Given the description of an element on the screen output the (x, y) to click on. 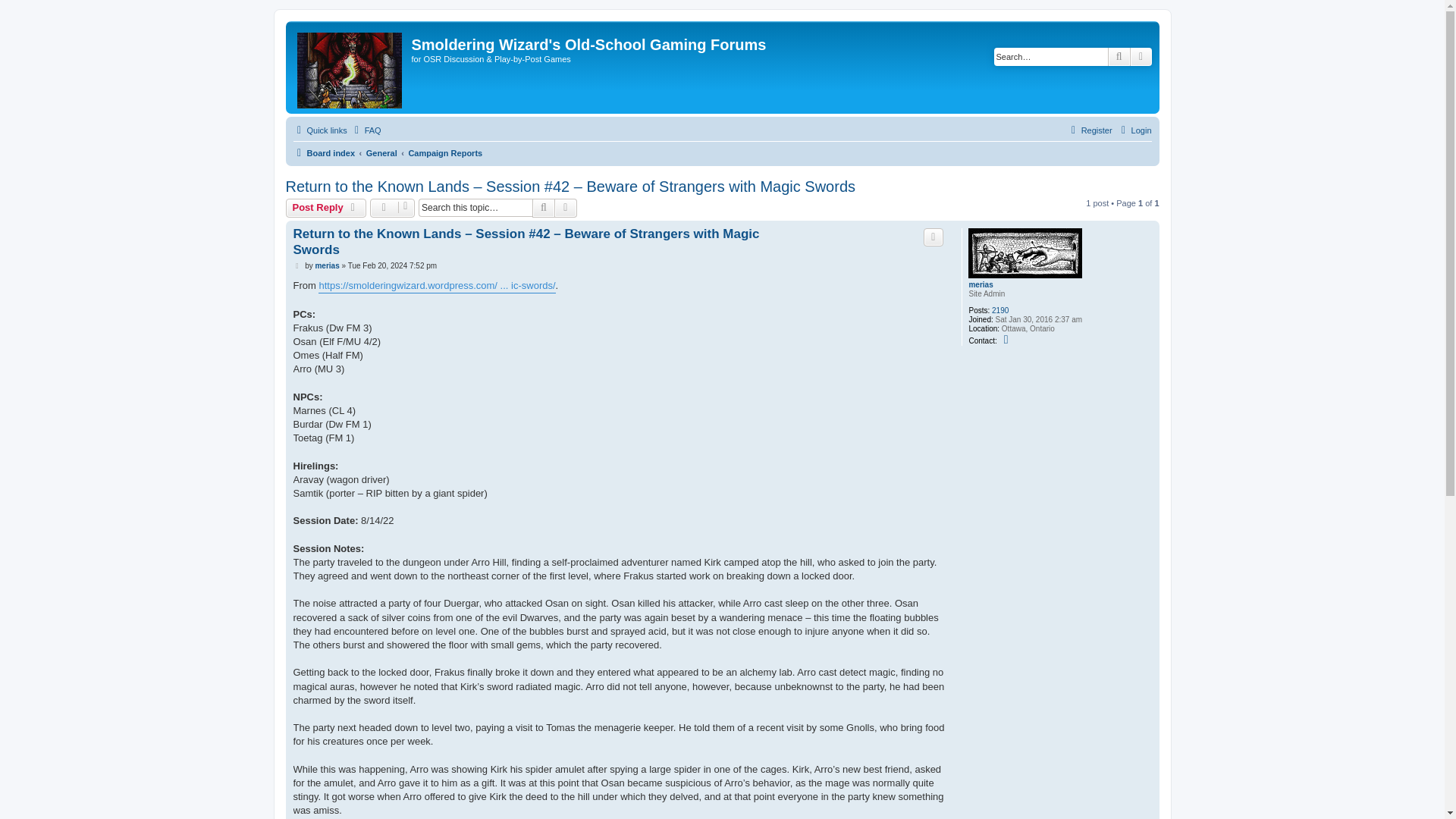
Topic tools (391, 208)
Board index (350, 67)
merias (326, 266)
Campaign Reports (444, 153)
Login (1134, 130)
Advanced search (1141, 56)
General (381, 153)
Login (1134, 130)
Board index (323, 153)
Post (297, 266)
Search (543, 208)
2190 (1000, 310)
Post Reply (325, 208)
Board index (323, 153)
Quick links (319, 130)
